Given the description of an element on the screen output the (x, y) to click on. 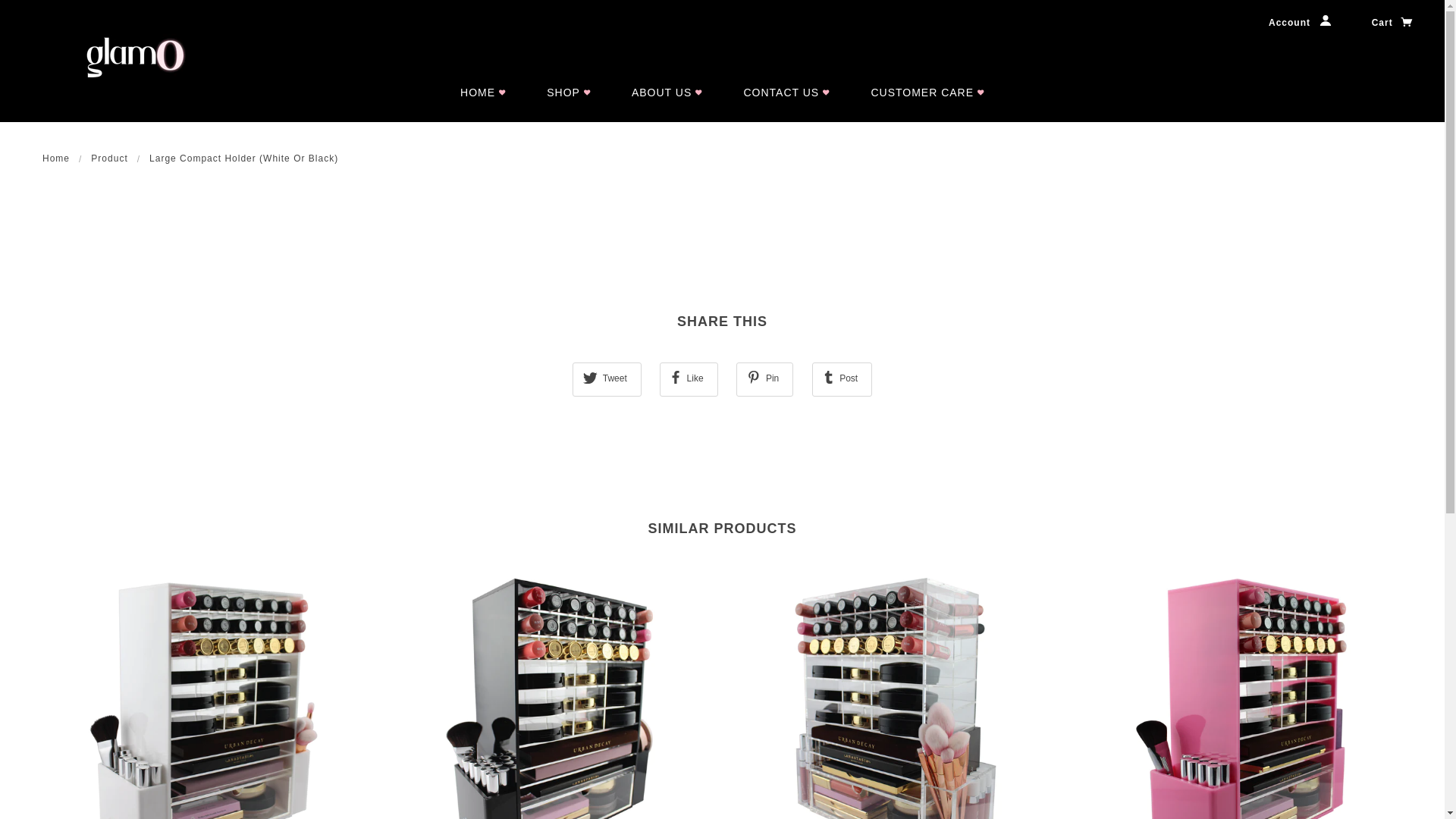
Like Element type: text (688, 378)
ABOUT US Element type: text (666, 92)
Post Element type: text (842, 378)
Tweet Element type: text (606, 378)
Pin Element type: text (764, 378)
CUSTOMER CARE Element type: text (927, 92)
HOME Element type: text (482, 92)
SHOP Element type: text (567, 92)
glamo.com.au Element type: hover (113, 56)
Cart Element type: text (1392, 22)
Account Element type: text (1299, 23)
CONTACT US Element type: text (786, 92)
Product Element type: text (109, 158)
Home Element type: text (55, 158)
